Given the description of an element on the screen output the (x, y) to click on. 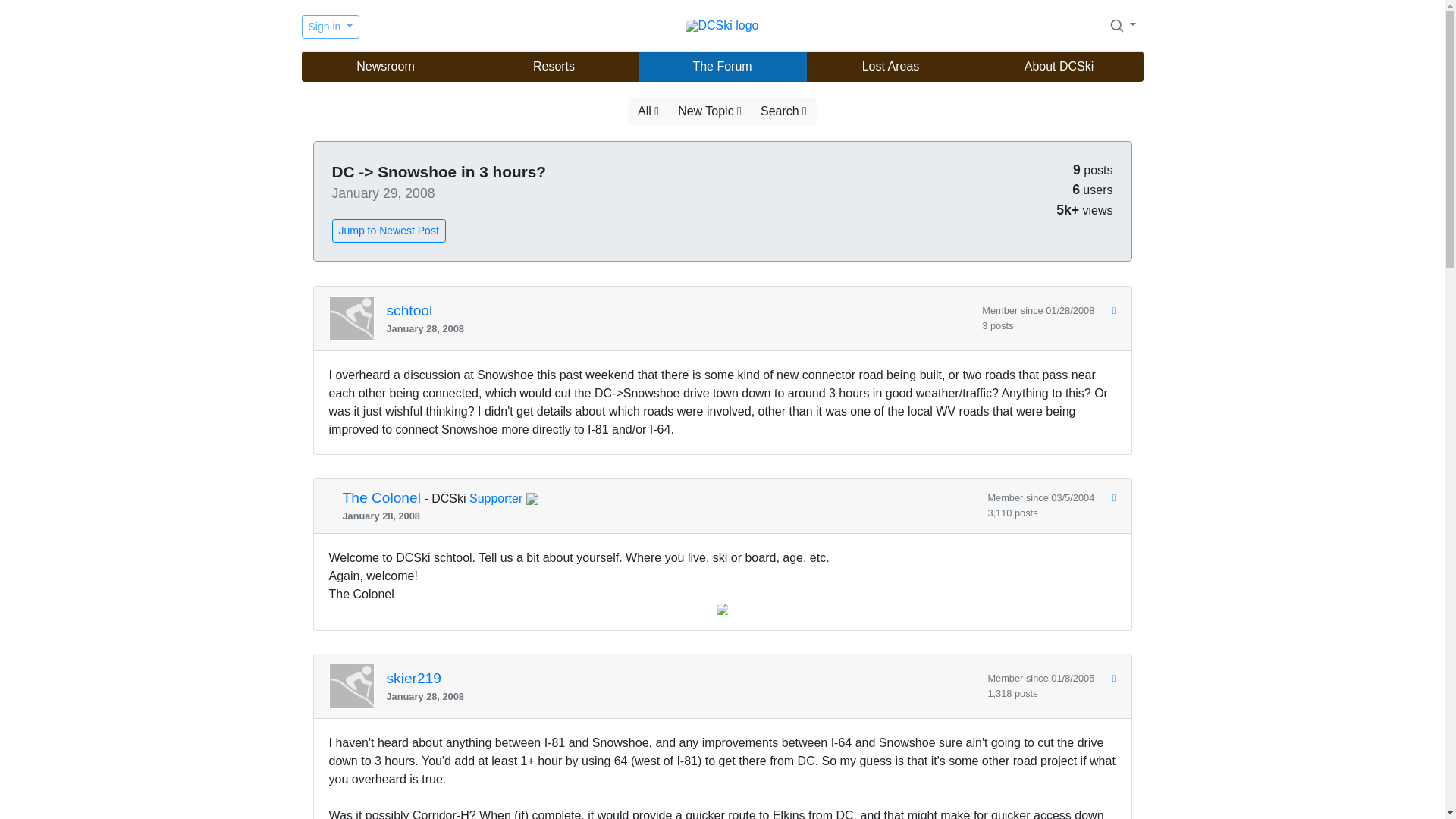
Search (1116, 25)
Search (1122, 24)
About DCSki (1058, 66)
January 28, 2008 at 10:43 pm (658, 515)
January 28, 2008 at 11:13 pm (681, 696)
Newsroom (385, 66)
smile (722, 609)
Jump to Newest Post (388, 230)
skier219 (414, 678)
The Colonel (381, 498)
